Given the description of an element on the screen output the (x, y) to click on. 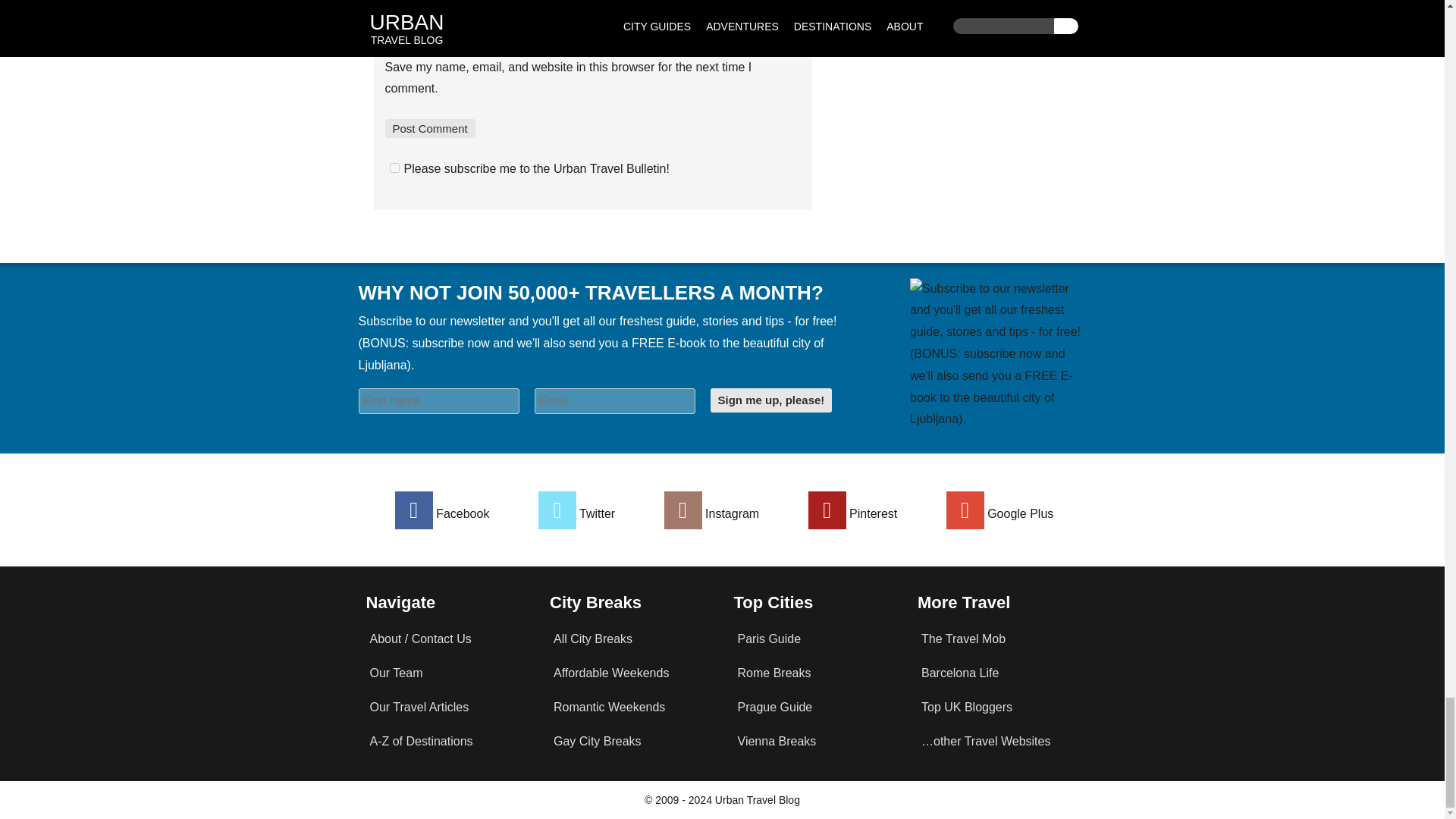
Sign me up, please! (770, 400)
yes (389, 44)
Post Comment (430, 128)
1 (394, 167)
